Given the description of an element on the screen output the (x, y) to click on. 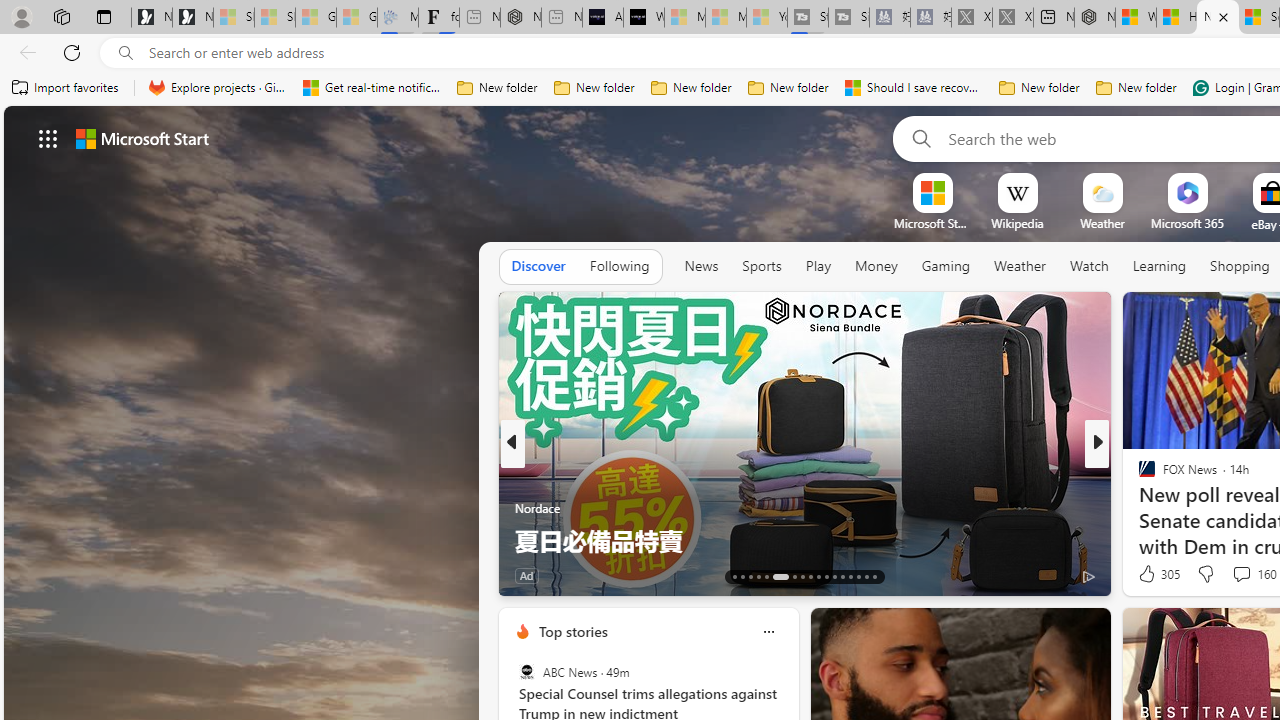
Search icon (125, 53)
View comments 1k Comment (1236, 574)
63 Like (1149, 574)
Microsoft Start Sports (932, 223)
AutomationID: tab-18 (780, 576)
AutomationID: tab-24 (833, 576)
AutomationID: tab-16 (757, 576)
Import favorites (65, 88)
Watch (1089, 267)
3k Like (1148, 574)
20 Like (1149, 574)
AutomationID: tab-43 (874, 576)
